Given the description of an element on the screen output the (x, y) to click on. 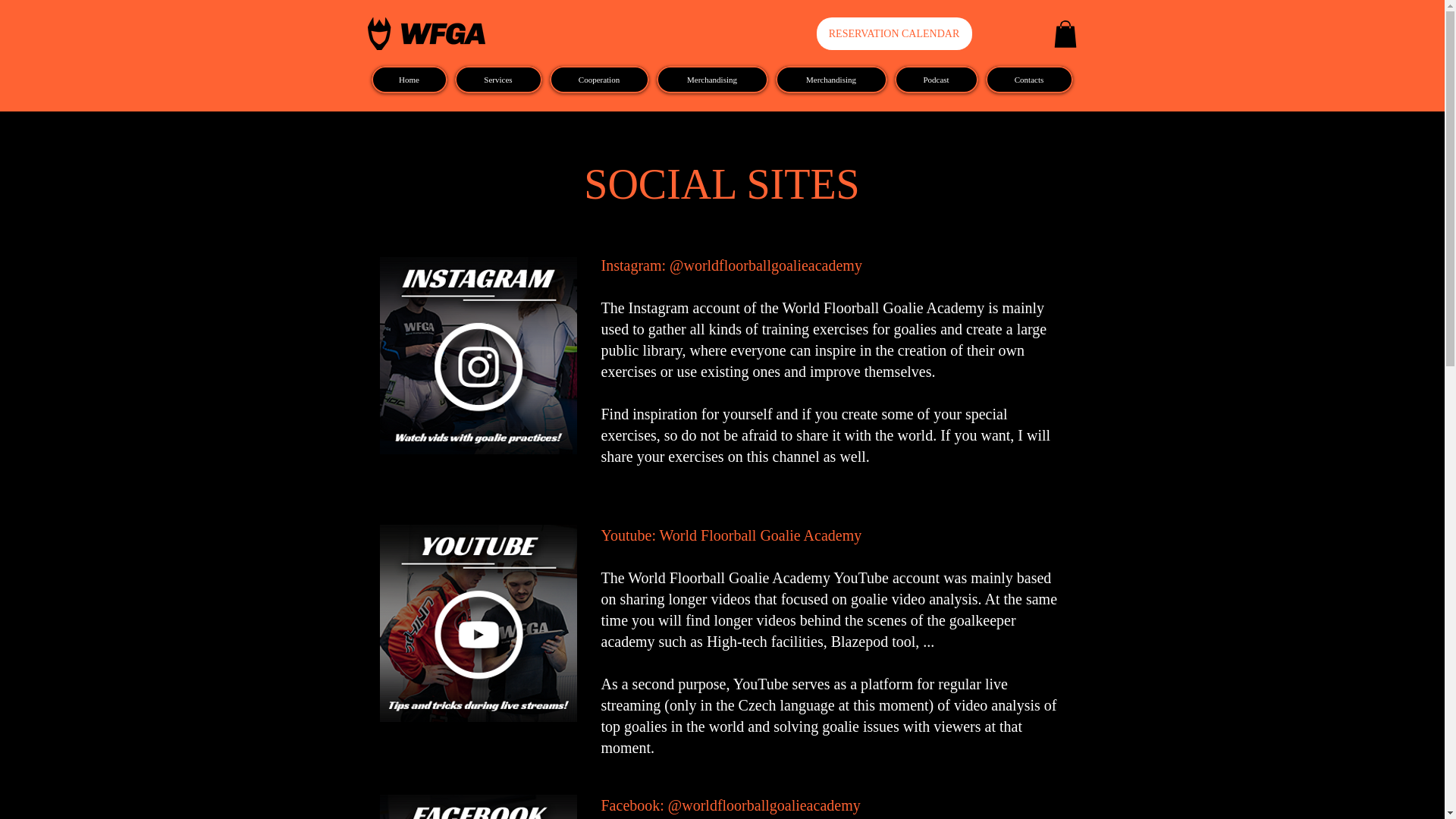
Home (408, 79)
Merchandising (830, 79)
RESERVATION CALENDAR (893, 33)
Podcast (936, 79)
Merchandising (712, 79)
